Given the description of an element on the screen output the (x, y) to click on. 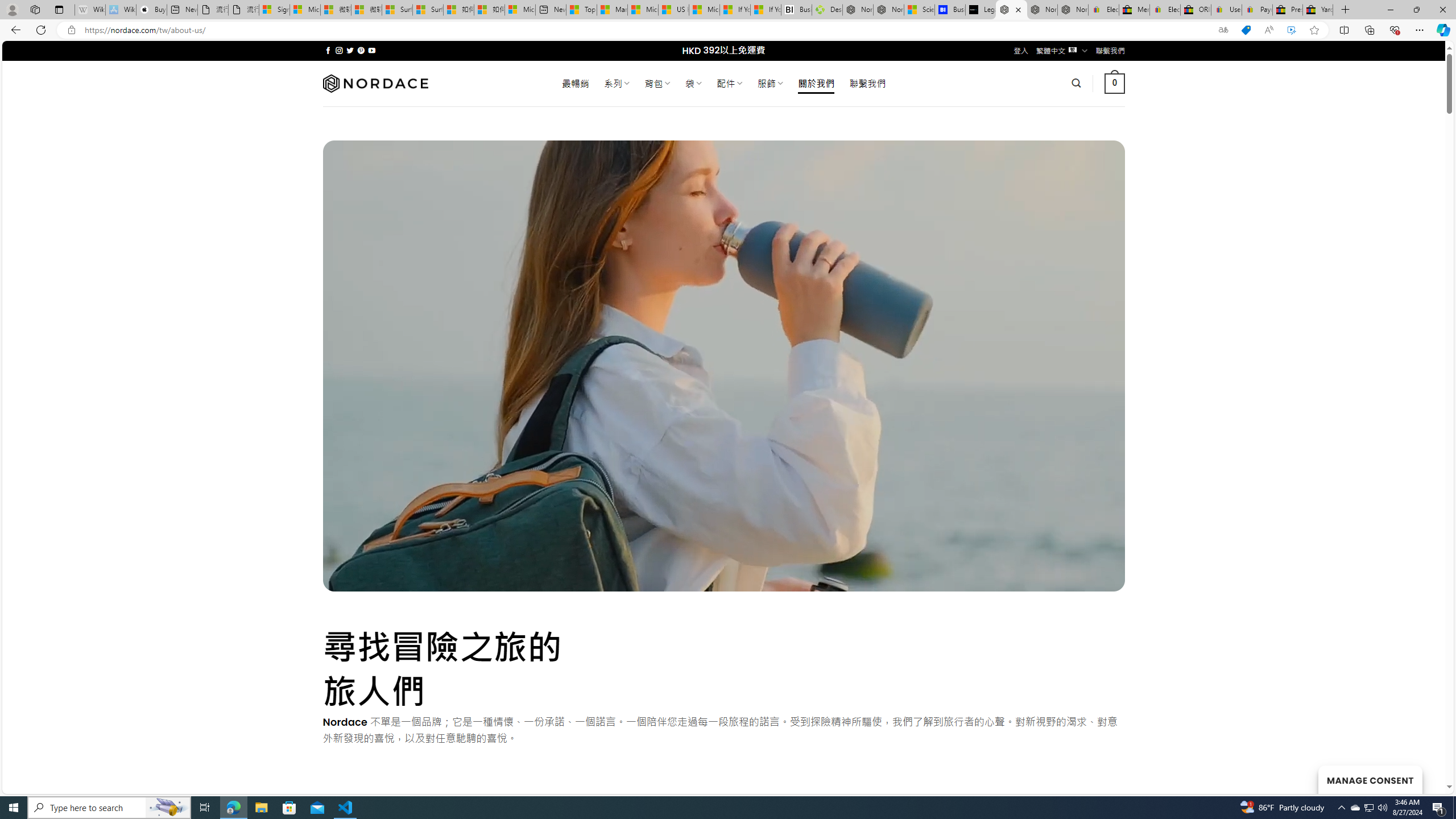
Microsoft account | Account Checkup (519, 9)
Buy iPad - Apple (151, 9)
This site has coupons! Shopping in Microsoft Edge (1245, 29)
Follow on YouTube (371, 50)
Top Stories - MSN (581, 9)
